Given the description of an element on the screen output the (x, y) to click on. 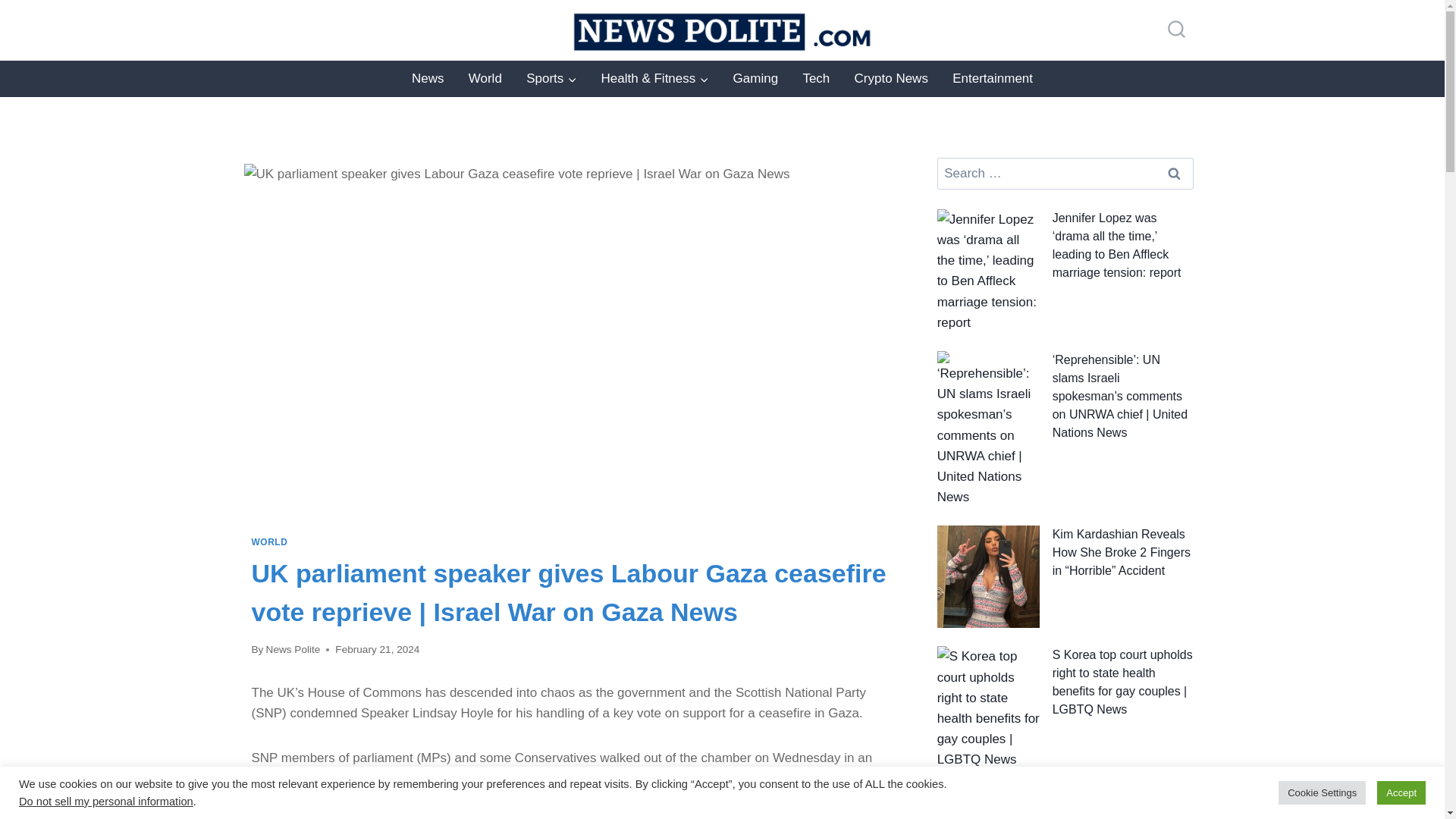
Search (1174, 174)
Entertainment (992, 78)
WORLD (269, 542)
Crypto News (890, 78)
News (427, 78)
News Polite (293, 649)
Search (1174, 174)
World (485, 78)
Gaming (755, 78)
Tech (815, 78)
Sports (550, 78)
